Given the description of an element on the screen output the (x, y) to click on. 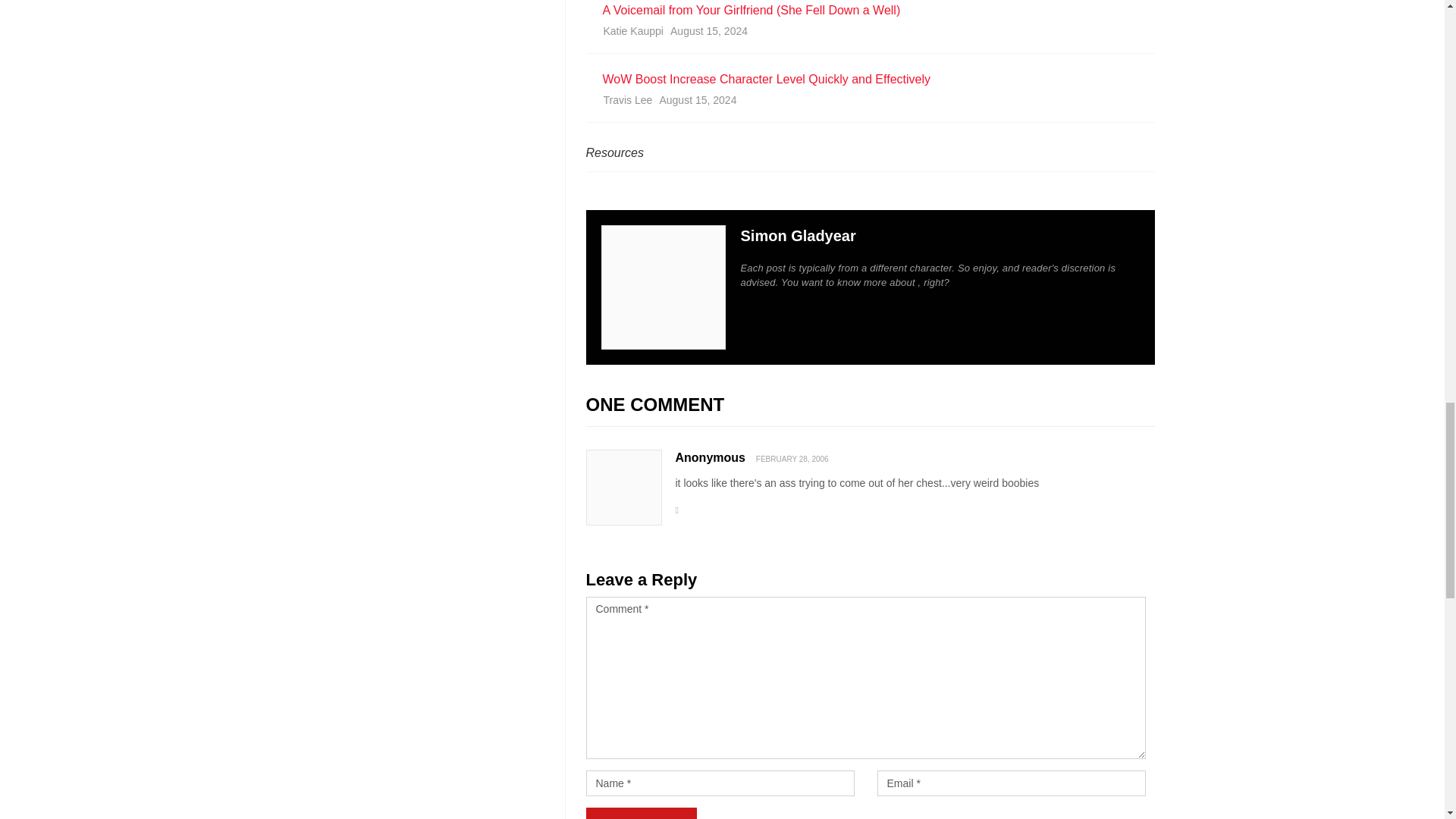
Simon Gladyear (797, 235)
FEBRUARY 28, 2006 (791, 459)
WoW Boost Increase Character Level Quickly and Effectively (867, 78)
POST COMMENT (640, 813)
Posts by Simon Gladyear (797, 235)
Katie Kauppi August 15, 2024 (867, 33)
Travis Lee August 15, 2024 (867, 102)
